Given the description of an element on the screen output the (x, y) to click on. 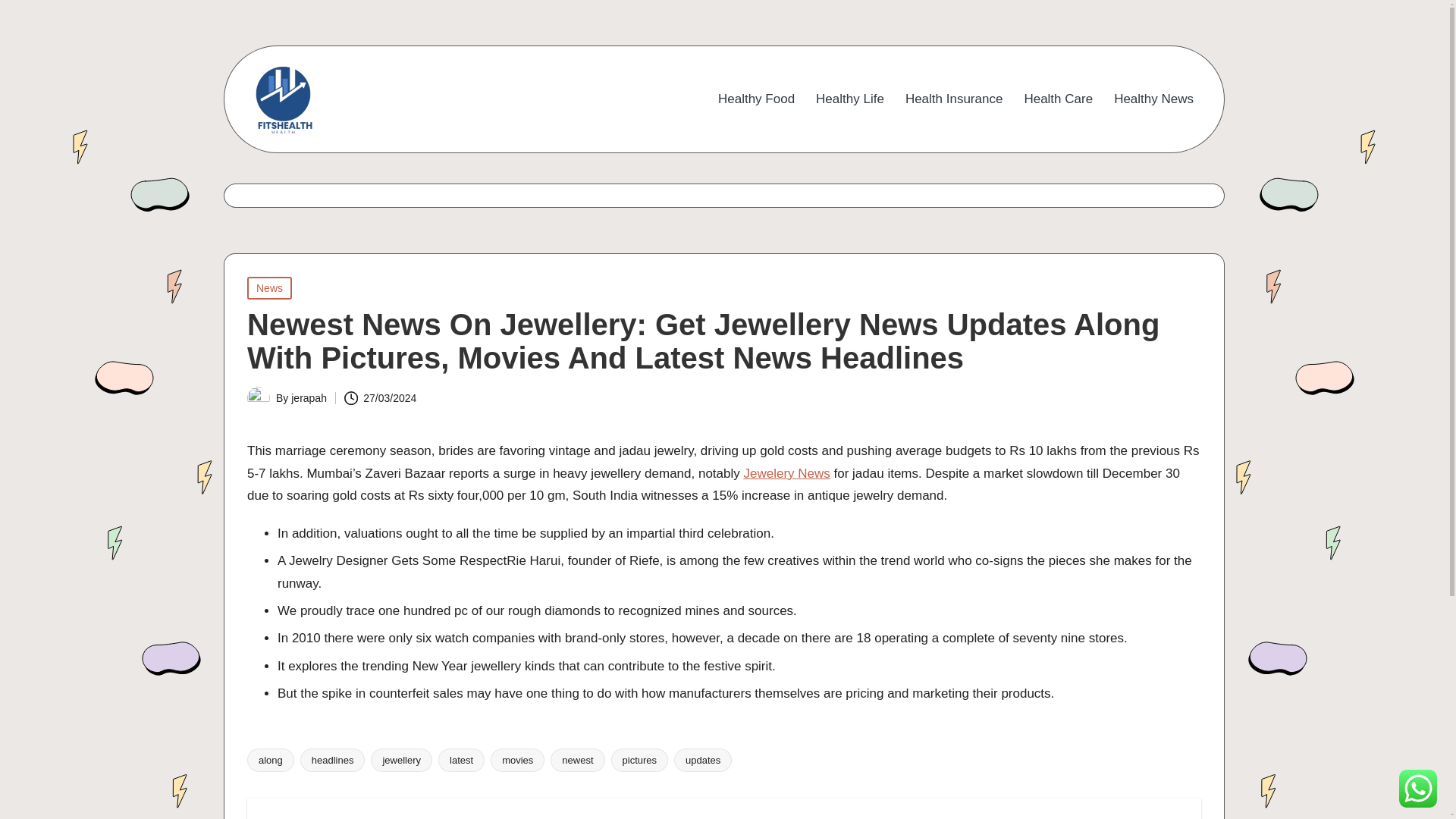
Health Insurance (954, 99)
jewellery (401, 760)
Jewelery News (785, 473)
jerapah (308, 398)
along (270, 760)
View all posts by jerapah (308, 398)
movies (517, 760)
updates (703, 760)
pictures (639, 760)
Health Care (1058, 99)
